Given the description of an element on the screen output the (x, y) to click on. 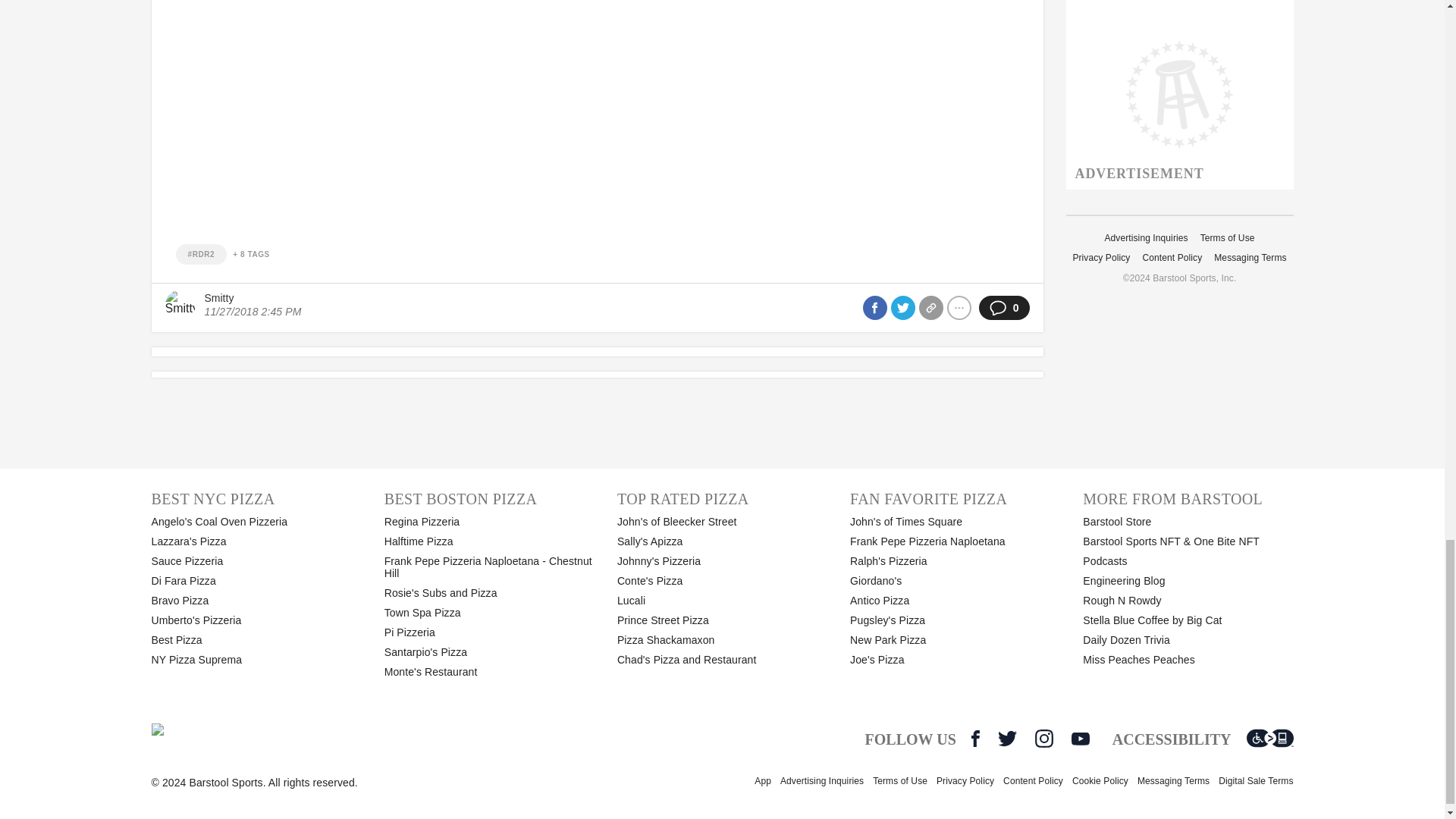
Twitter Icon (1006, 738)
Level Access website accessibility icon (1270, 737)
YouTube Icon (1080, 738)
Instagram Icon (1043, 738)
